Given the description of an element on the screen output the (x, y) to click on. 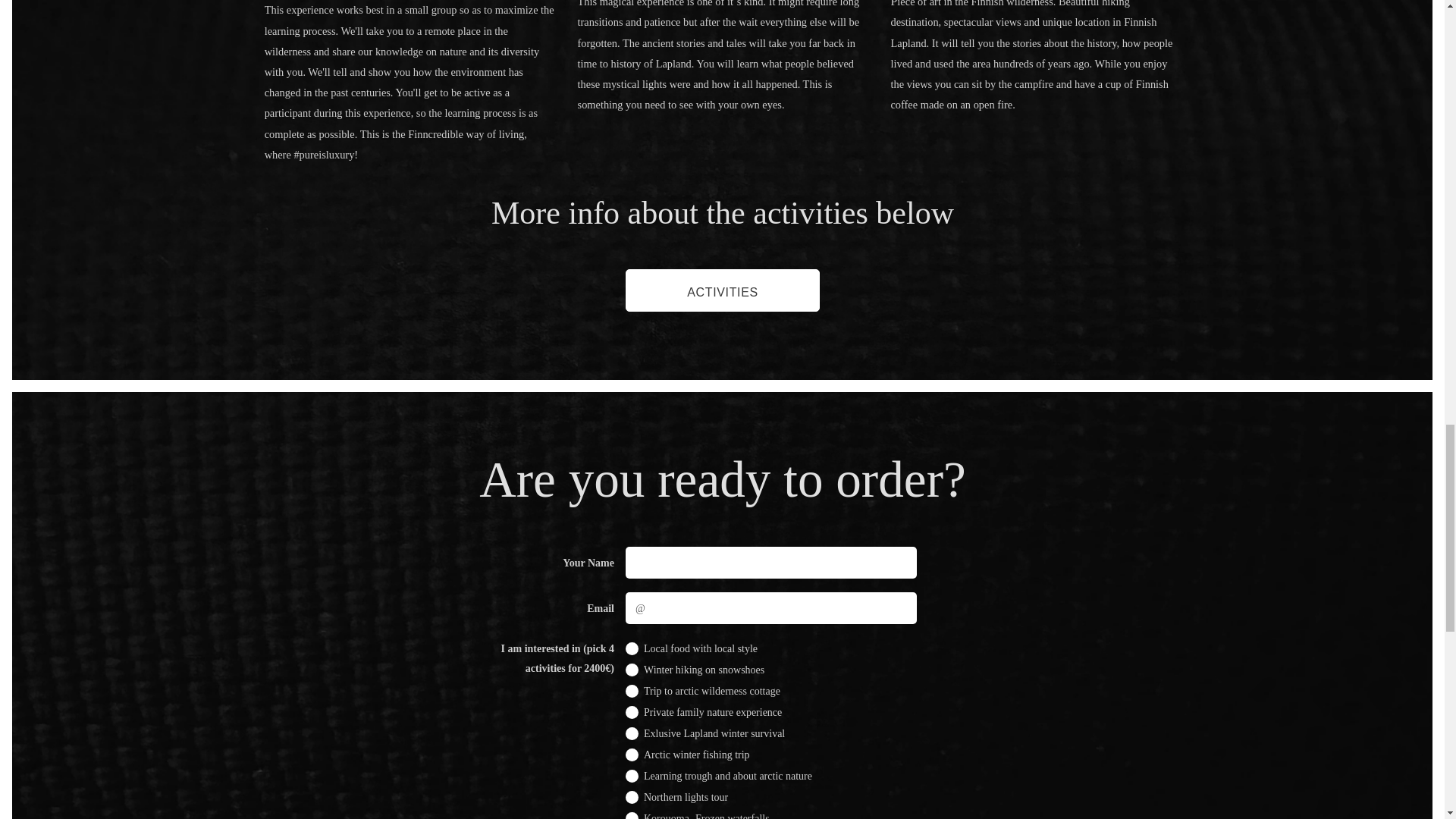
ACTIVITIES (721, 290)
